Given the description of an element on the screen output the (x, y) to click on. 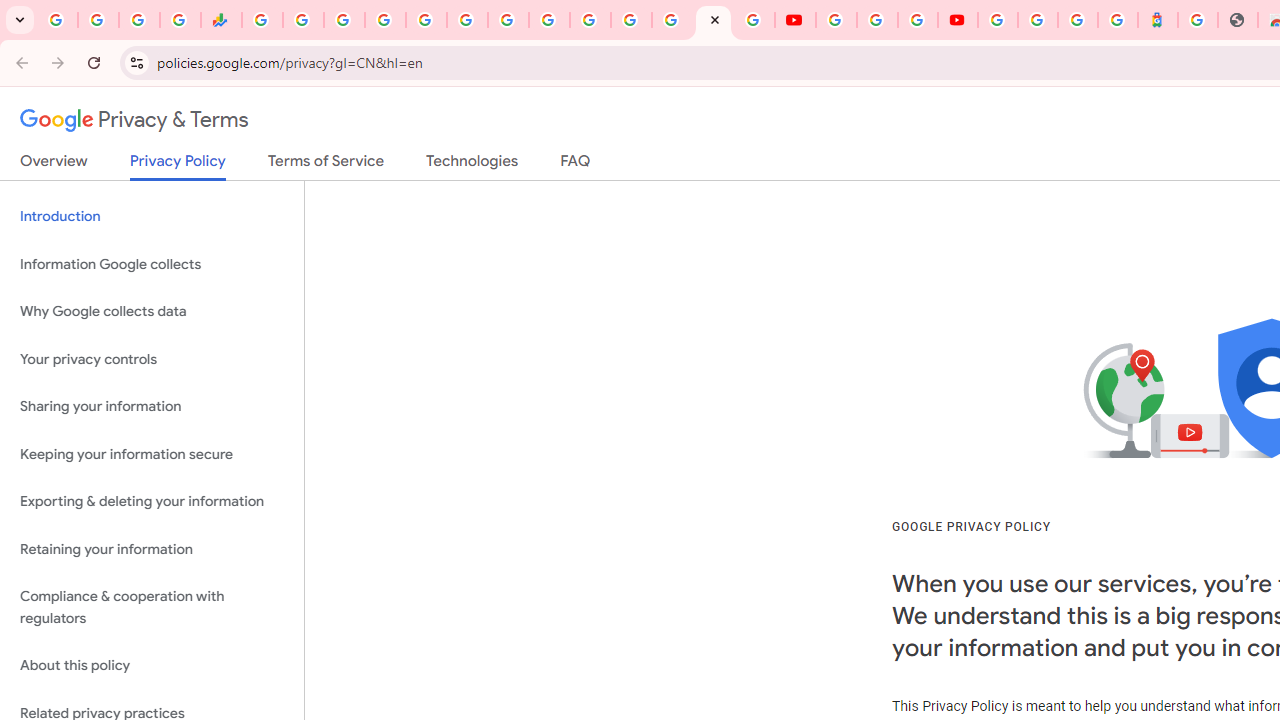
Sign in - Google Accounts (671, 20)
Android TV Policies and Guidelines - Transparency Center (507, 20)
Privacy Checkup (753, 20)
YouTube (836, 20)
Exporting & deleting your information (152, 502)
